Given the description of an element on the screen output the (x, y) to click on. 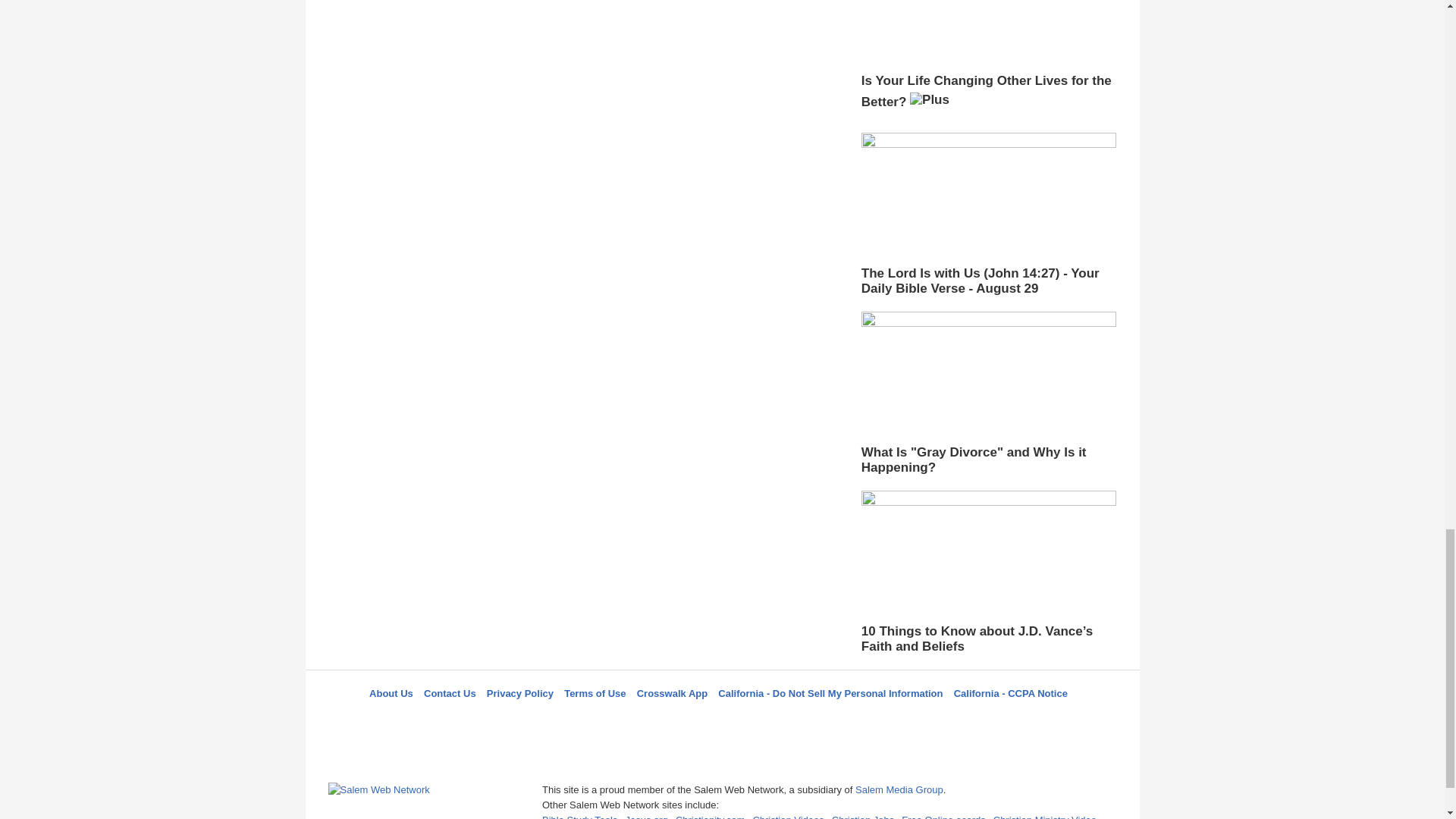
Pinterest (757, 720)
YouTube (795, 720)
LifeAudio (719, 720)
Twitter (683, 720)
Facebook (645, 720)
